Given the description of an element on the screen output the (x, y) to click on. 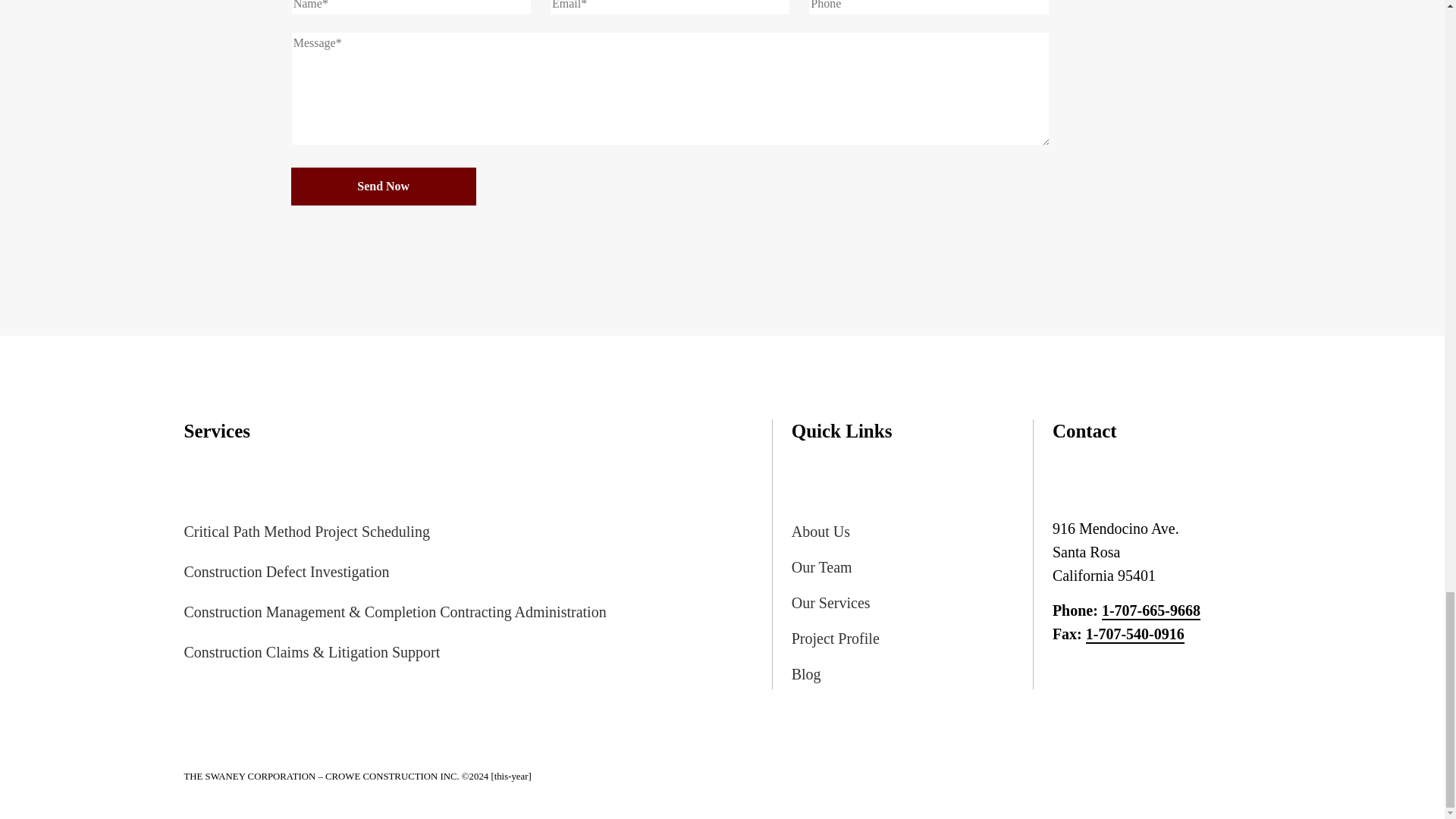
Send Now (383, 186)
Send Now (383, 186)
Critical Path Method Project Scheduling (477, 531)
